Given the description of an element on the screen output the (x, y) to click on. 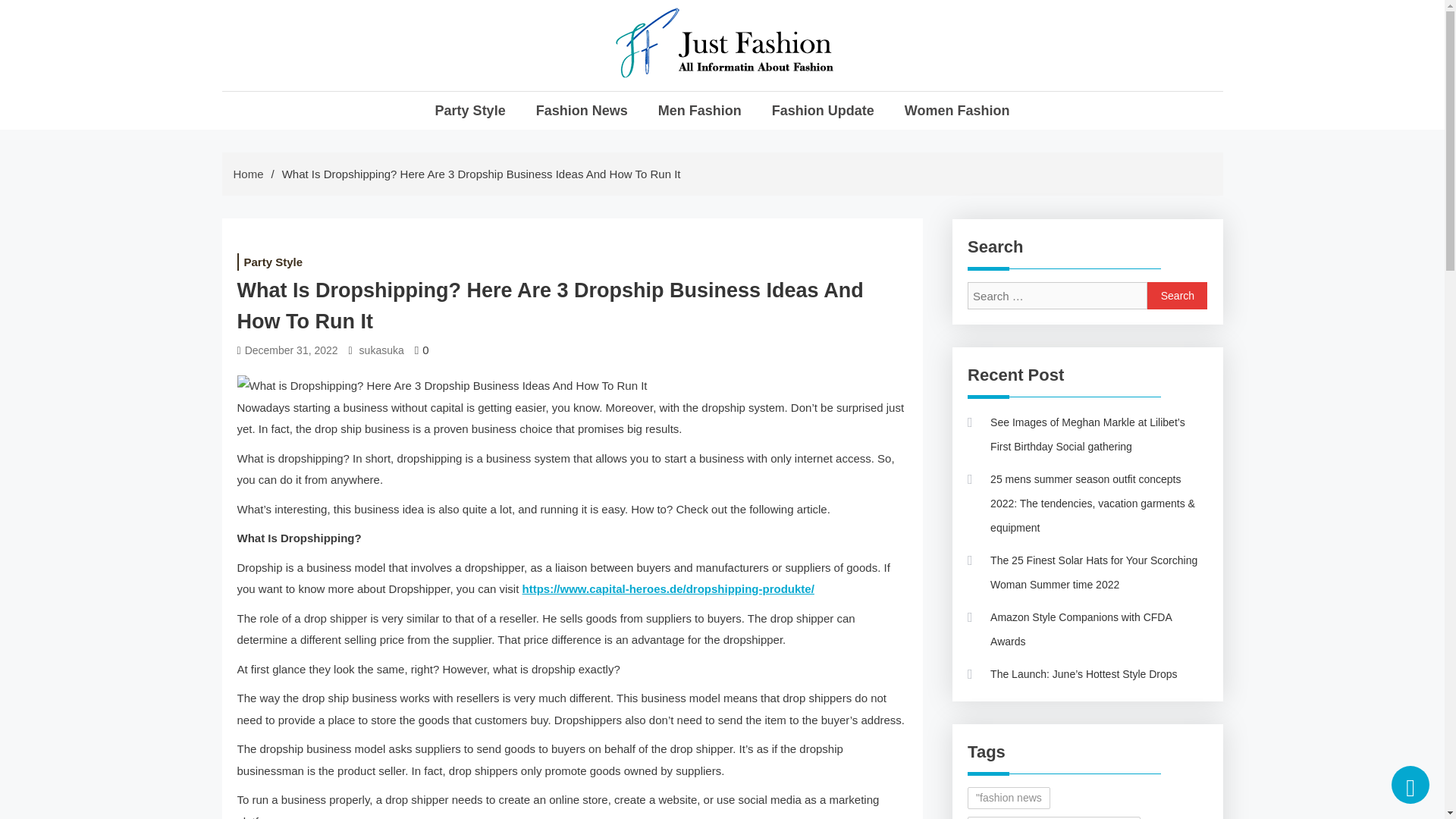
Search (1177, 295)
"fashion news (1008, 798)
sukasuka (381, 350)
Amazon Style Companions with CFDA Awards (1087, 629)
Search (1177, 295)
Men Fashion (699, 110)
Party Style (271, 262)
Fashion Update (823, 110)
Party Style (470, 110)
